Given the description of an element on the screen output the (x, y) to click on. 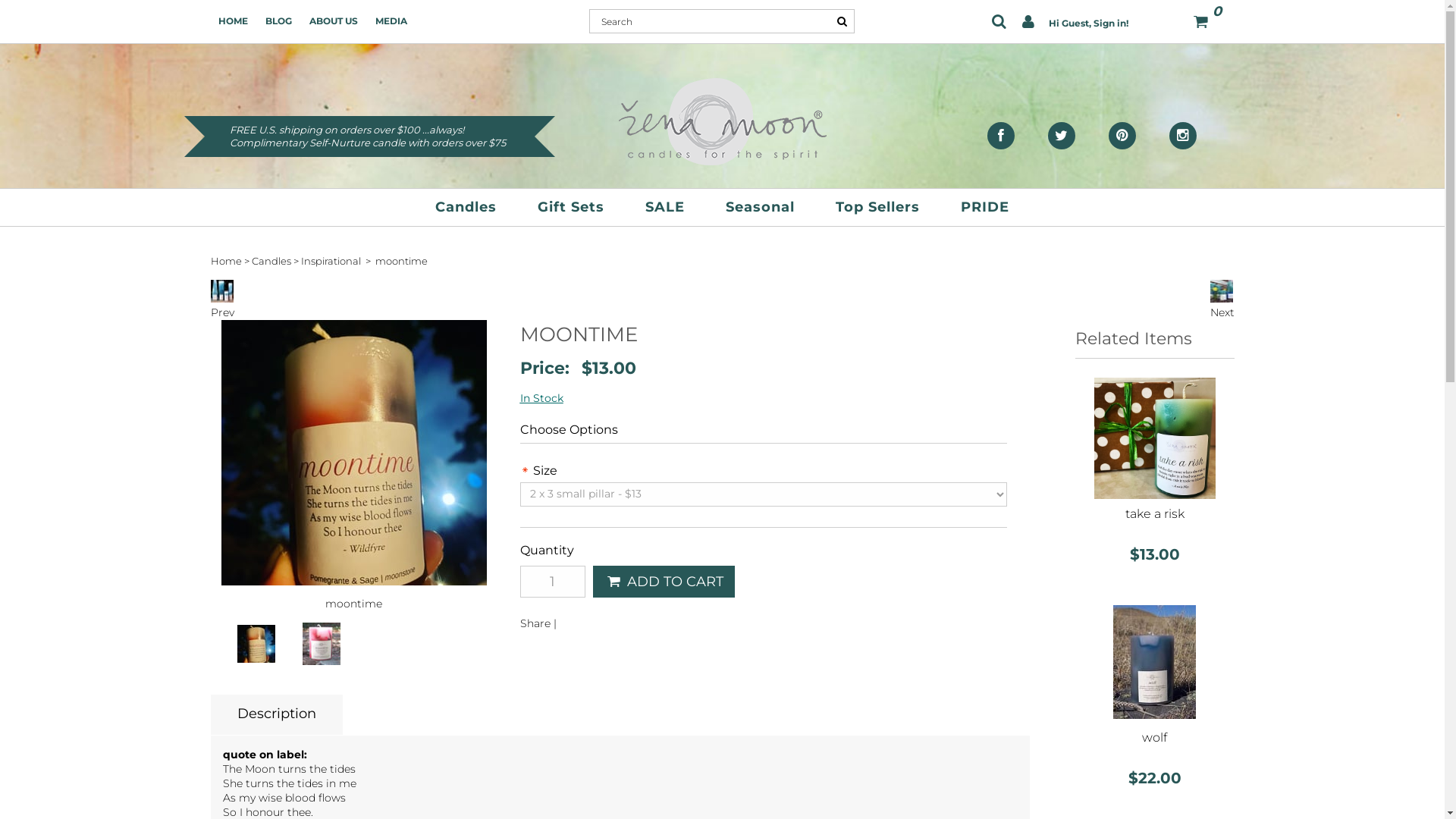
SALE Element type: text (664, 206)
Like Us on Facebook Element type: hover (1000, 134)
Next Element type: text (1222, 305)
take a risk Element type: text (1154, 513)
Gift Sets Element type: text (570, 206)
Inspirational Element type: text (331, 260)
MEDIA Element type: text (390, 21)
Candles Element type: text (271, 260)
Candles Element type: text (465, 206)
Follow Us on Twitter Element type: hover (1061, 134)
Description Element type: text (276, 712)
PRIDE Element type: text (984, 206)
Home Element type: text (225, 260)
Prev Element type: text (222, 305)
Follow Us on Instagram Element type: hover (1182, 134)
Seasonal Element type: text (759, 206)
BLOG Element type: text (278, 21)
Follow Us on Pinterest Element type: hover (1121, 134)
Sign in! Element type: text (1110, 22)
Share Element type: text (535, 623)
wolf Element type: text (1154, 737)
HOME Element type: text (232, 21)
ABOUT US Element type: text (333, 21)
Top Sellers Element type: text (877, 206)
ADD TO CART Element type: text (663, 581)
